Given the description of an element on the screen output the (x, y) to click on. 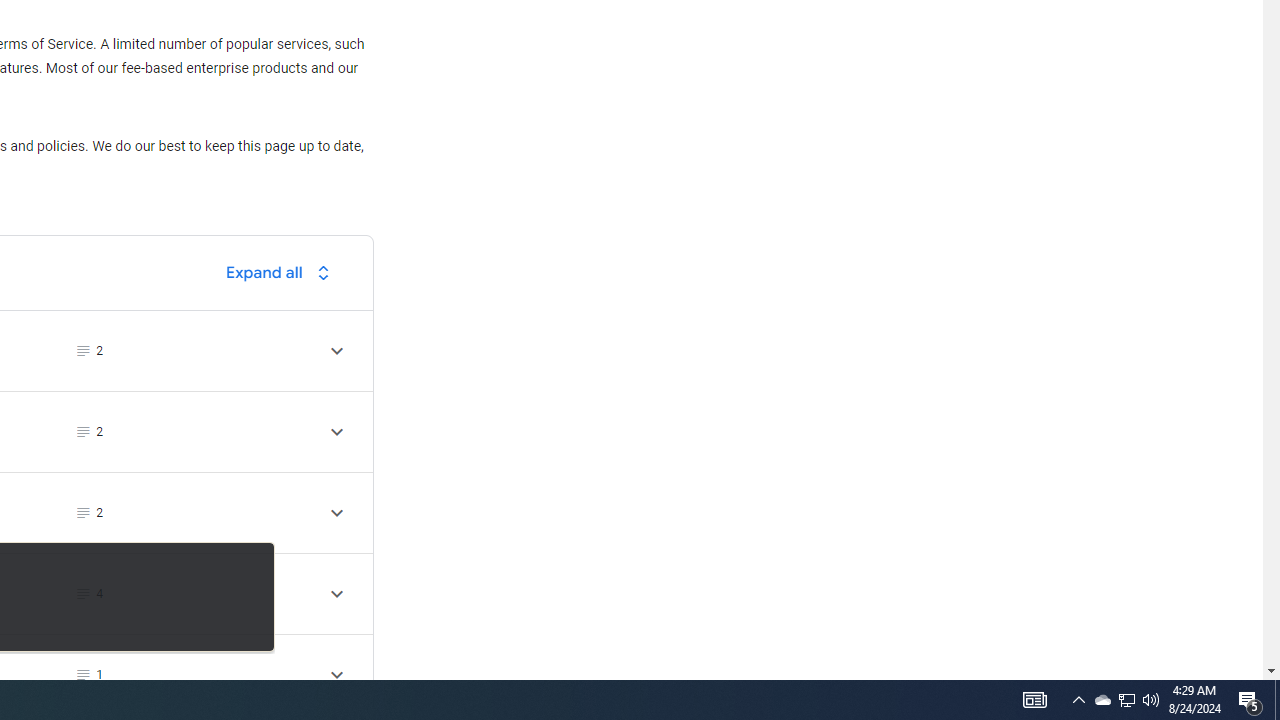
Expand all (283, 272)
